Given the description of an element on the screen output the (x, y) to click on. 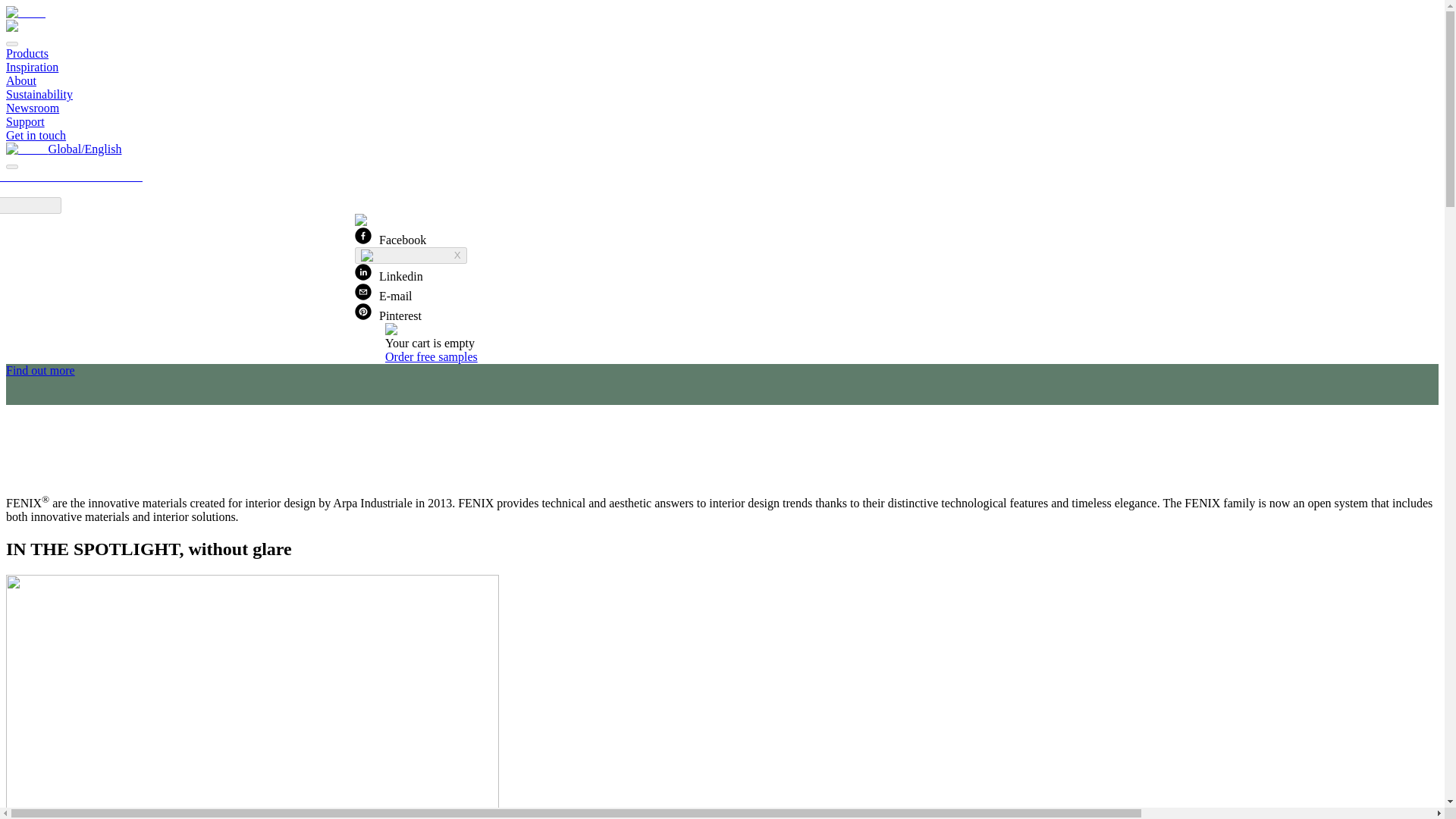
Newsroom (32, 107)
E-mail (383, 293)
Facebook (390, 237)
Get in touch (35, 134)
Support (25, 121)
Products (26, 52)
Find out more (40, 369)
Order free samples (38, 93)
X (431, 356)
Pinterest (411, 255)
About (388, 312)
Linkedin (20, 80)
Inspiration (389, 273)
